Given the description of an element on the screen output the (x, y) to click on. 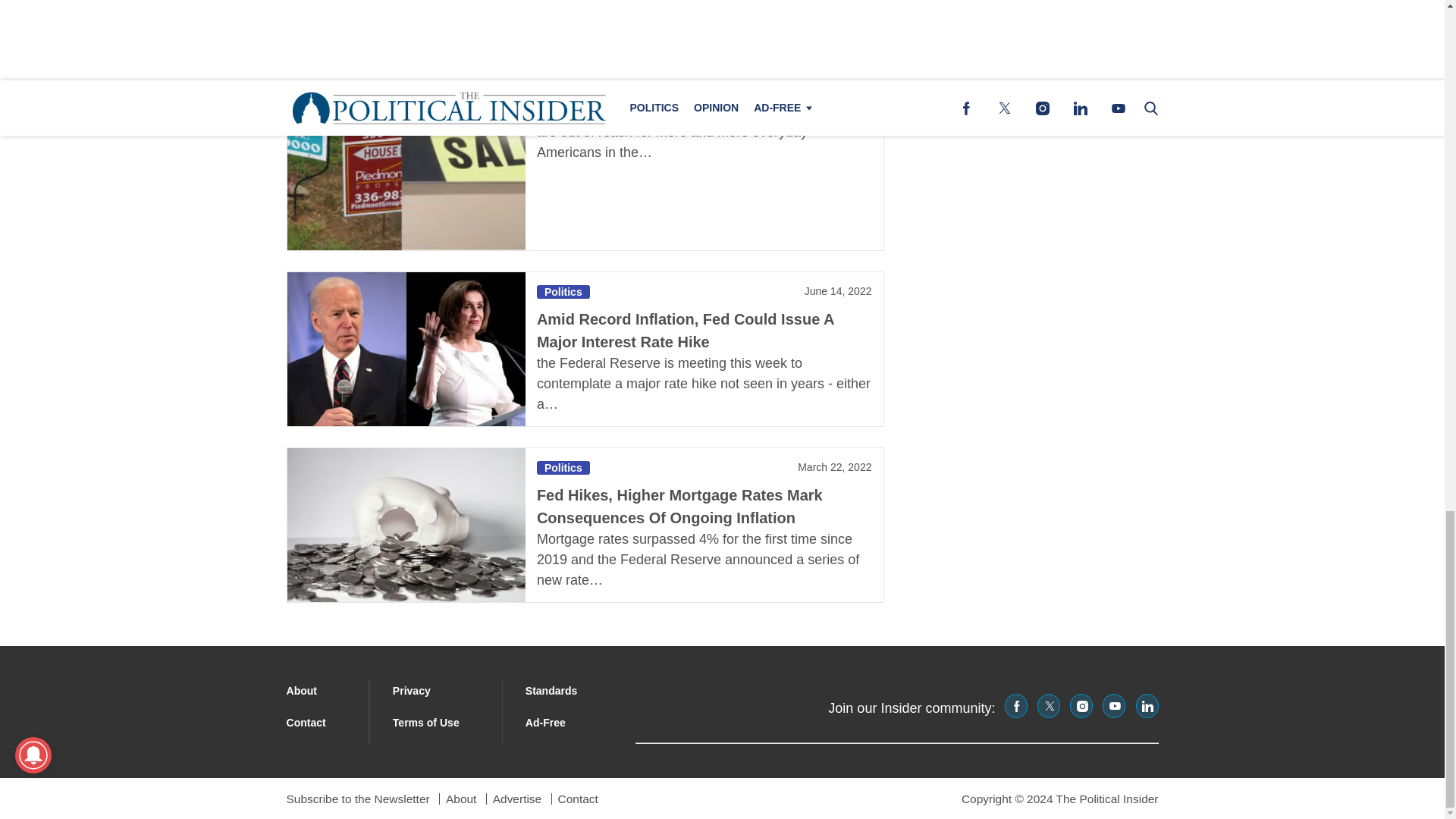
Politics (563, 39)
Follow us on Instagram (1081, 705)
Connect with us on LinkedIn (1146, 705)
Subscribe to our YouTube channel (1113, 705)
Follow us on Twitter (1047, 705)
Follow us on Facebook (1015, 705)
Politics (563, 291)
